Given the description of an element on the screen output the (x, y) to click on. 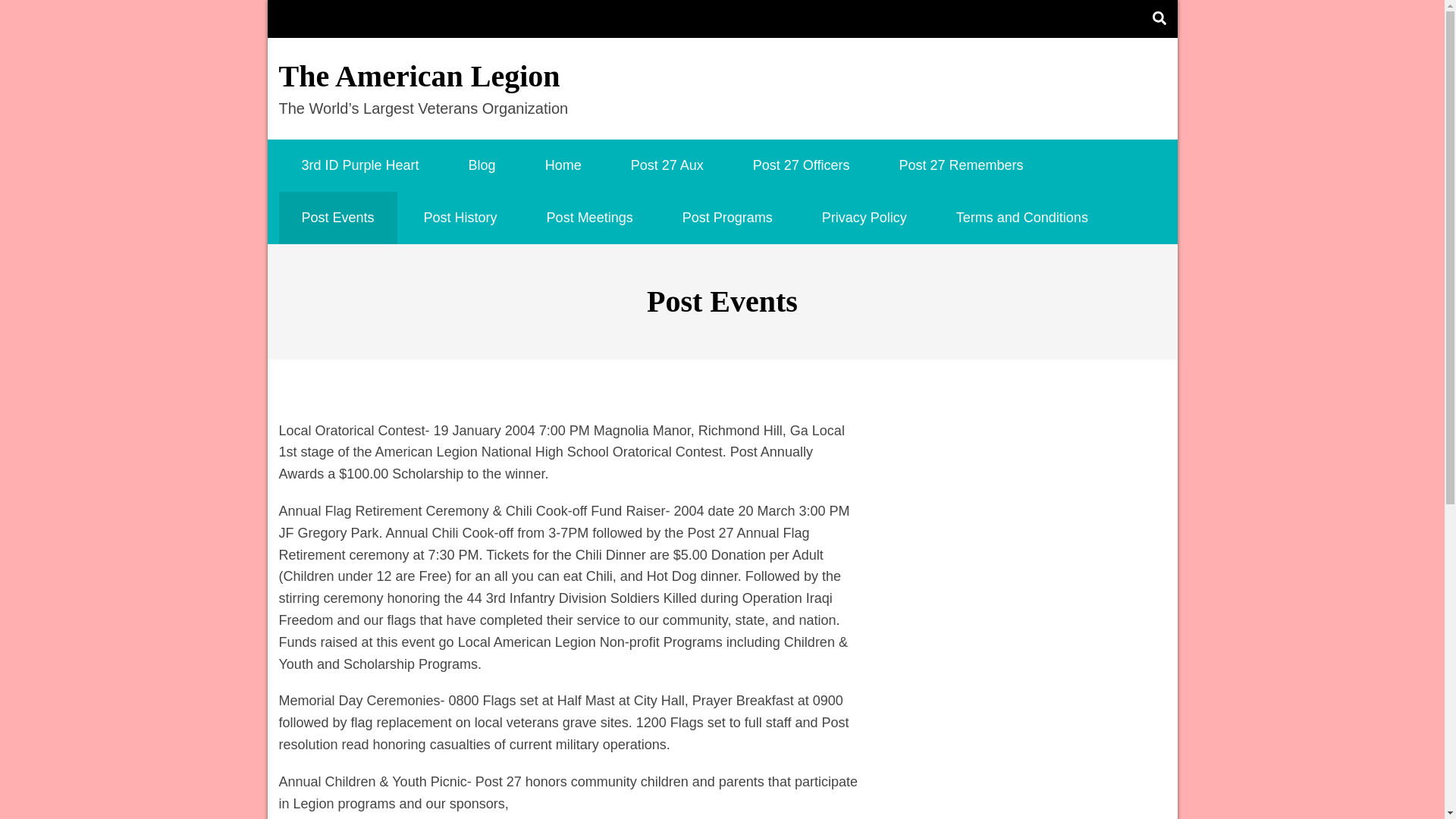
Post History (460, 217)
Home (563, 165)
Post 27 Remembers (961, 165)
Post Events (338, 217)
Post 27 Aux (667, 165)
The American Legion (419, 75)
Blog (481, 165)
Post Programs (726, 217)
Terms and Conditions (1021, 217)
Privacy Policy (864, 217)
Post Meetings (590, 217)
3rd ID Purple Heart (360, 165)
Post 27 Officers (801, 165)
